Given the description of an element on the screen output the (x, y) to click on. 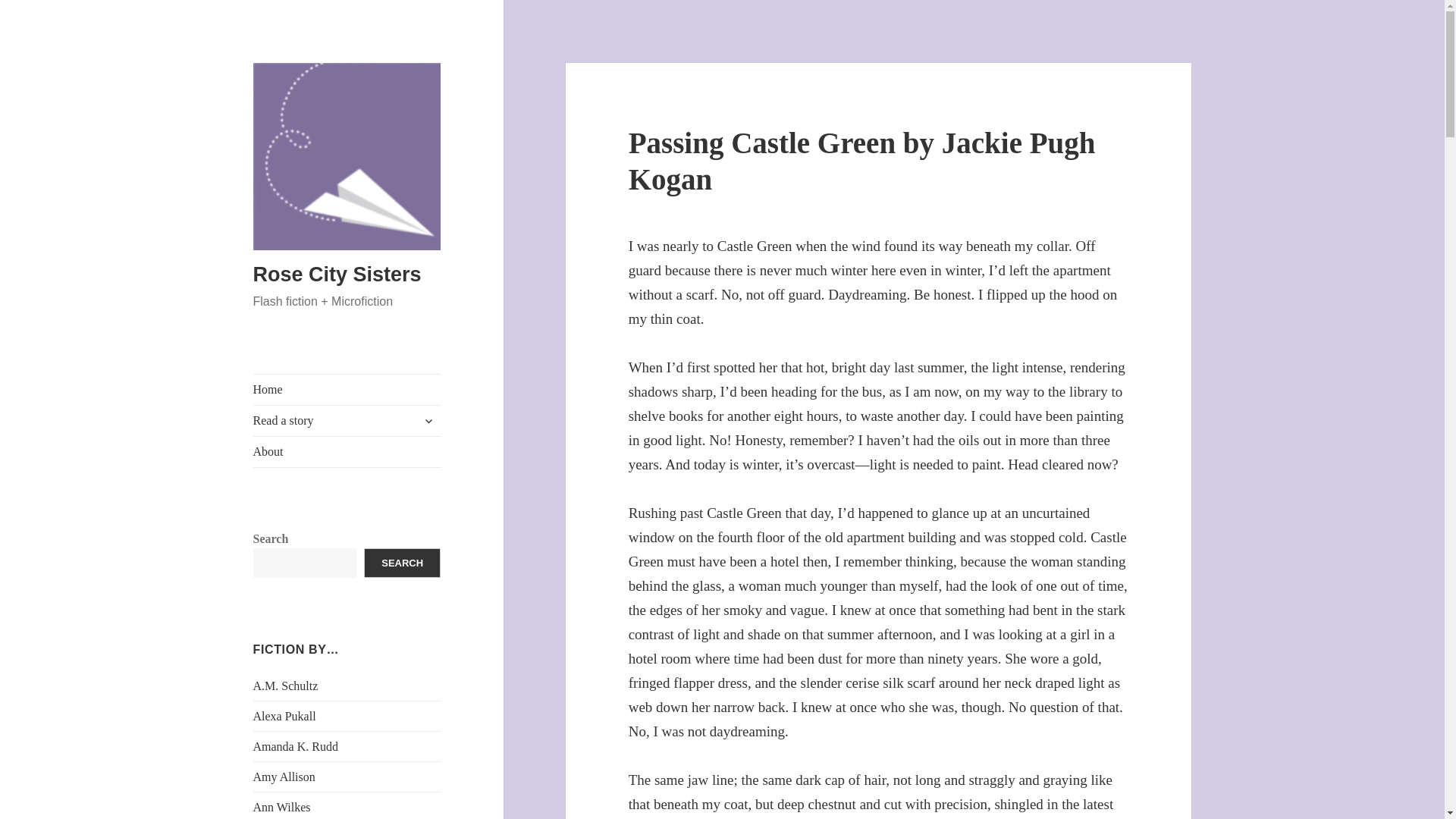
Amy Allison (284, 776)
Alexa on Instagram (284, 716)
Read a story (347, 420)
Amy Allison website (284, 776)
About (347, 451)
Rose City Sisters (337, 273)
Alexa Pukall (284, 716)
Home (347, 389)
Amanda K. Rudd (295, 746)
SEARCH (402, 562)
expand child menu (428, 420)
Ann Wilkes (282, 807)
A.M. Schultz (285, 685)
